Given the description of an element on the screen output the (x, y) to click on. 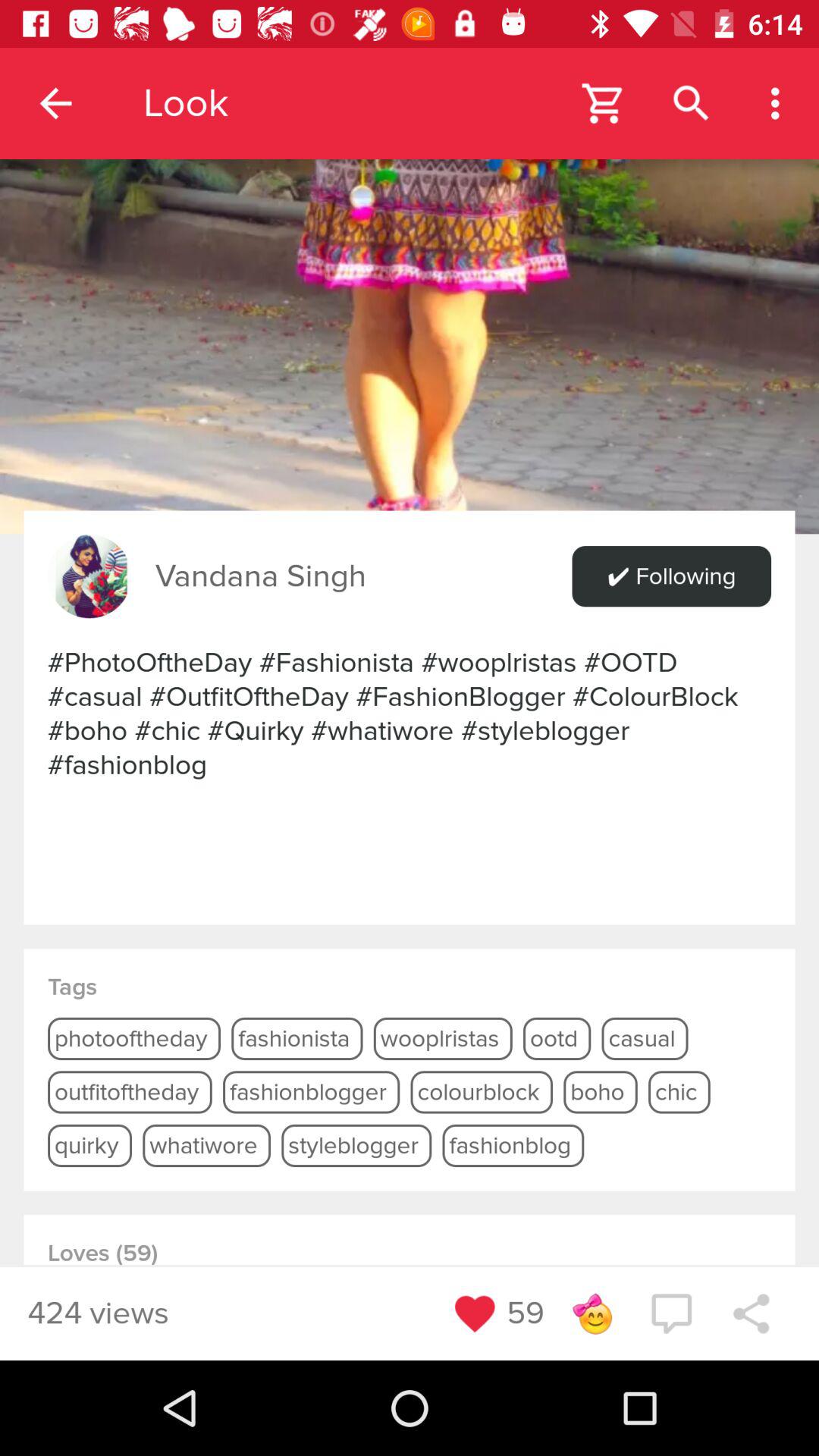
go to profile (89, 576)
